Given the description of an element on the screen output the (x, y) to click on. 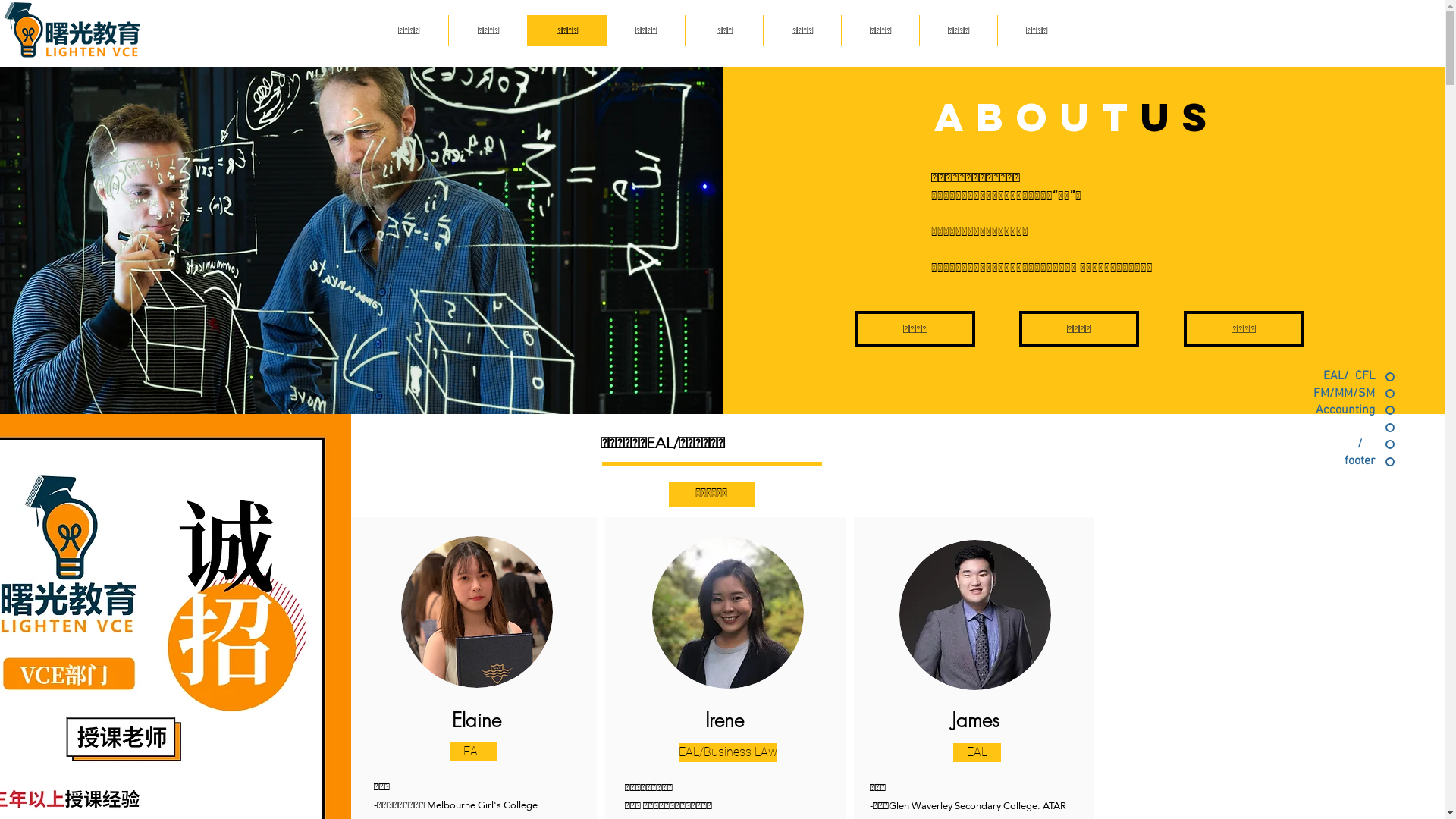
GettyImages-535587703.jpg Element type: hover (476, 611)
footer Element type: text (1327, 460)
GettyImages-124893619.jpg Element type: hover (727, 612)
GettyImages-145680711.jpg Element type: hover (975, 614)
